Given the description of an element on the screen output the (x, y) to click on. 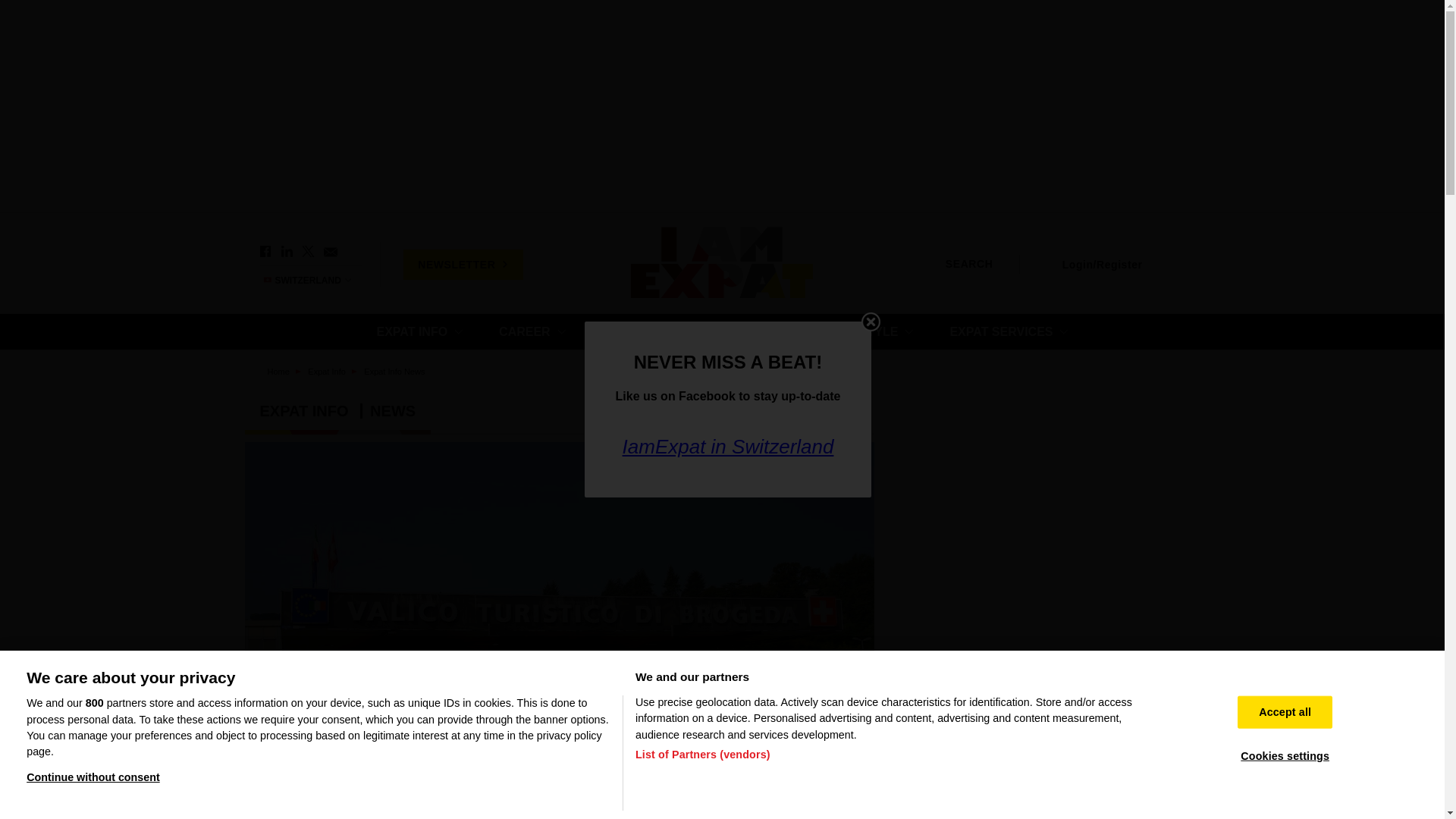
NEWSLETTER (462, 263)
Linkedin (287, 251)
Facebook (265, 251)
3rd party ad content (1047, 535)
Switzerland drops further down ranking of expat destinations (1043, 732)
Newsletter (329, 251)
EXPAT INFO (419, 331)
Twitter (307, 251)
Home (721, 263)
Two Swiss cities named among the 10 happiest in the world (1043, 800)
SWITZERLAND (313, 280)
NEWSLETTER (462, 263)
